Given the description of an element on the screen output the (x, y) to click on. 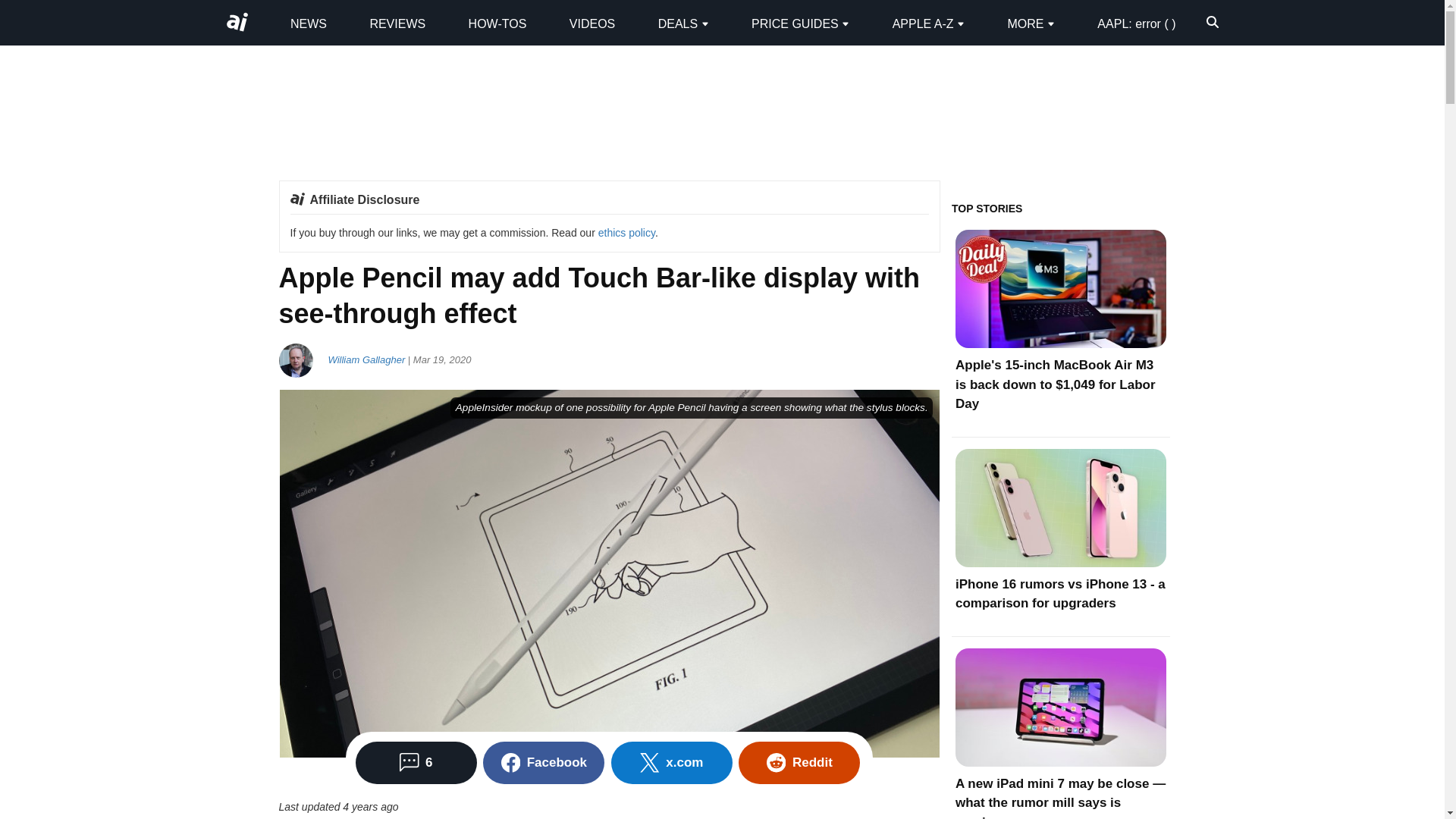
HOW-TOS (497, 23)
How-Tos (497, 23)
Reviews (397, 23)
News (307, 23)
NEWS (307, 23)
REVIEWS (397, 23)
Videos (591, 23)
VIDEOS (591, 23)
